Given the description of an element on the screen output the (x, y) to click on. 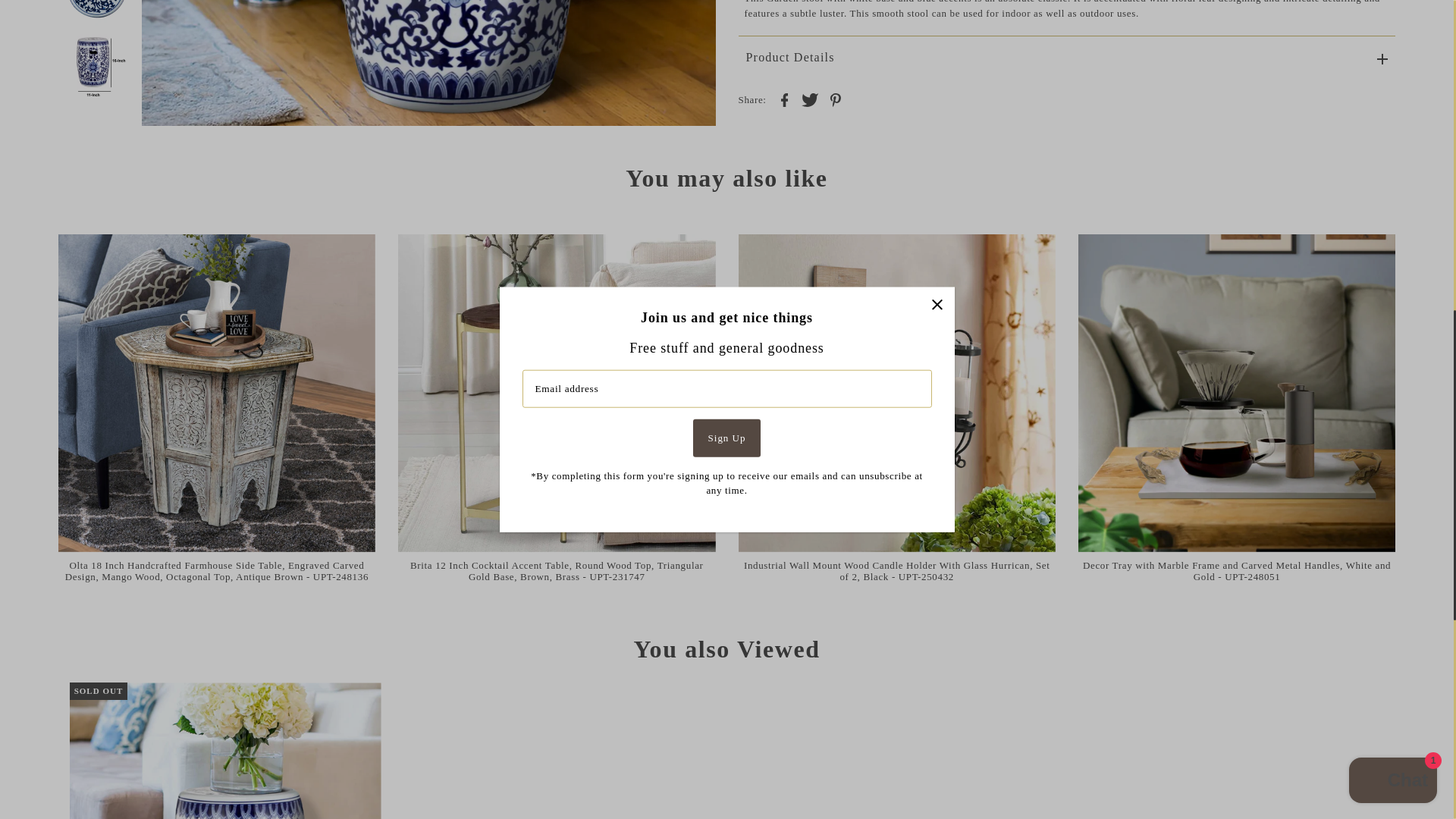
Share on Pinterest (835, 98)
Share on Twitter (809, 98)
Elegant Classic Garden Stool - ABH-D69818 (225, 750)
Share on Facebook (784, 98)
